Given the description of an element on the screen output the (x, y) to click on. 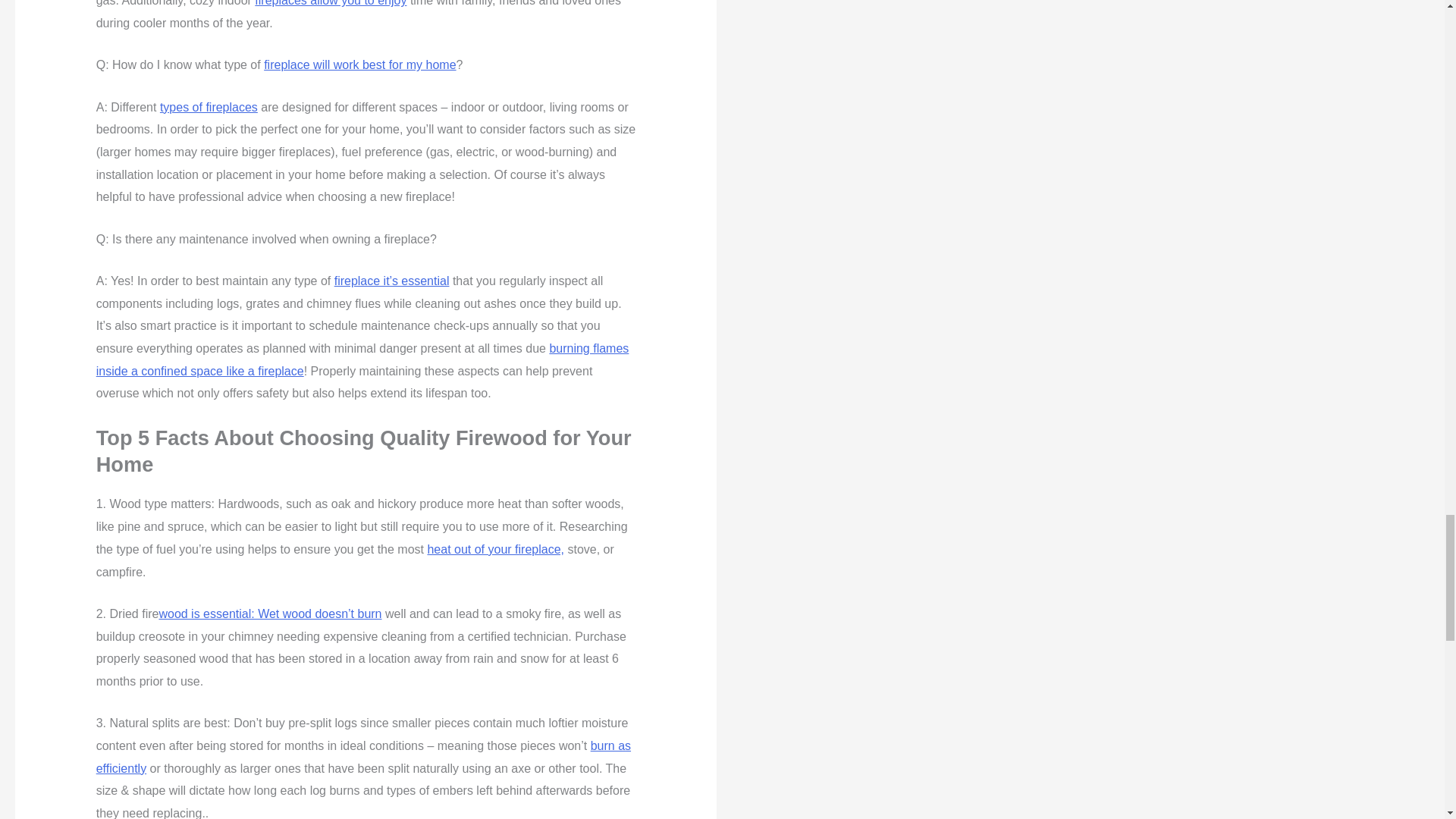
types of fireplaces (208, 106)
fireplace will work best for my home (359, 64)
burning flames inside a confined space like a fireplace (362, 359)
burn as efficiently (363, 756)
fireplaces allow you to enjoy (330, 3)
heat out of your fireplace, (495, 549)
